Given the description of an element on the screen output the (x, y) to click on. 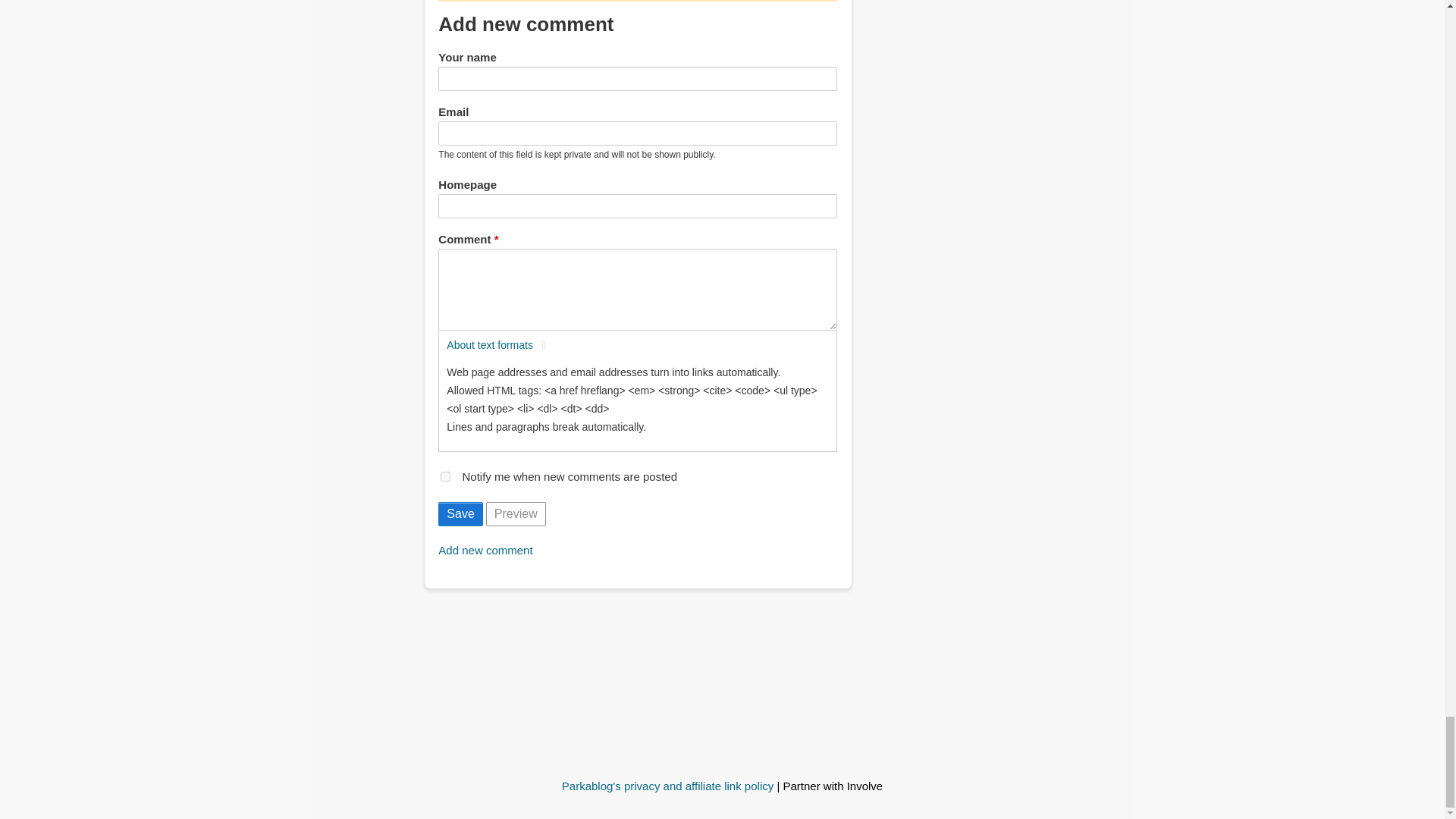
Preview (516, 514)
1 (445, 476)
Save (459, 514)
